Given the description of an element on the screen output the (x, y) to click on. 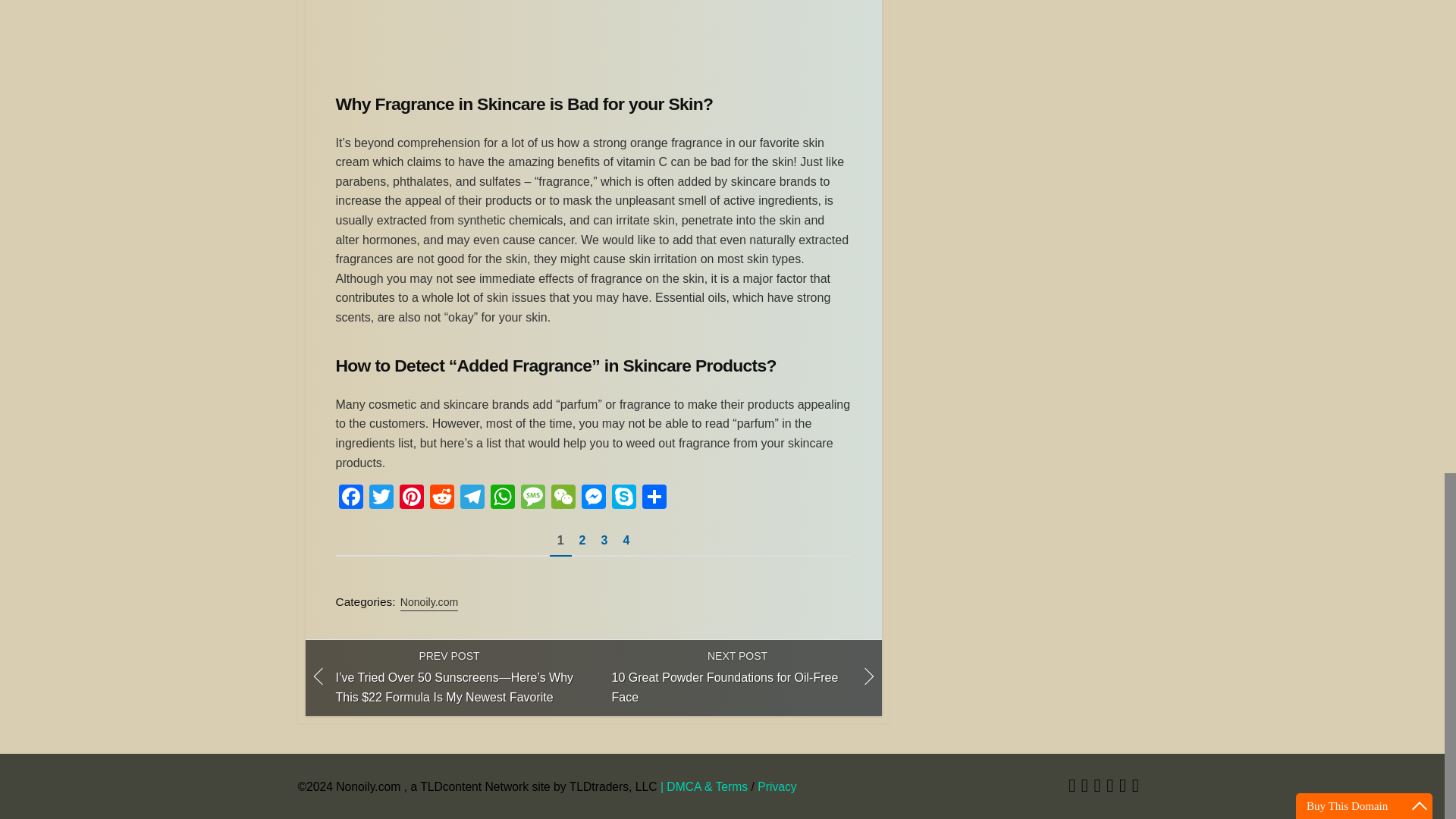
Facebook (349, 498)
WeChat (562, 498)
4 (625, 539)
Tumblr (1109, 787)
Messenger (593, 498)
Twitter (380, 498)
Nonoily.com (429, 601)
RSS Feed (1122, 787)
Pinterest (411, 498)
WeChat (562, 498)
Skype (623, 498)
Message (531, 498)
WhatsApp (501, 498)
WhatsApp (501, 498)
Privacy (776, 786)
